Given the description of an element on the screen output the (x, y) to click on. 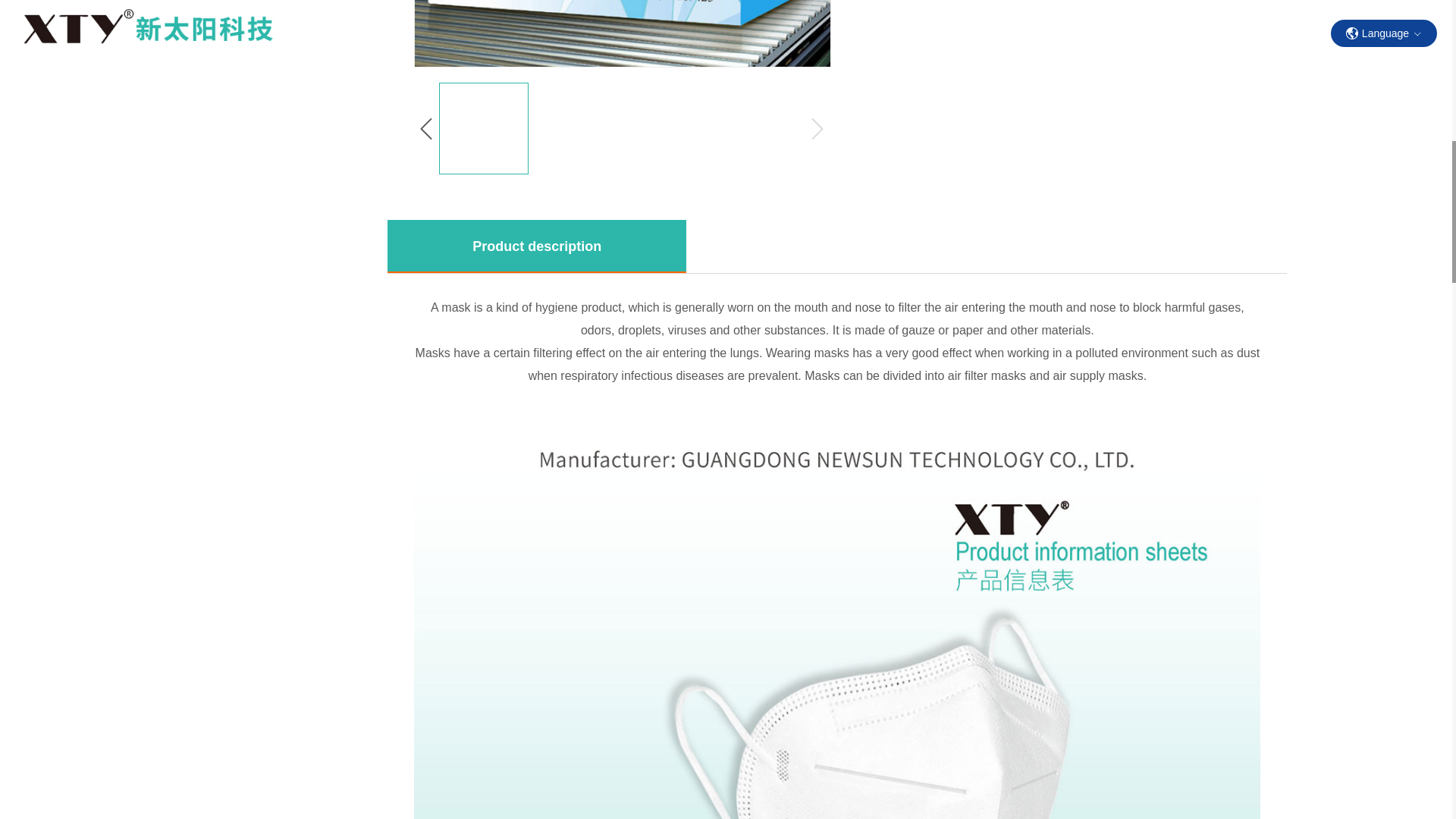
ENTER (1374, 17)
